Given the description of an element on the screen output the (x, y) to click on. 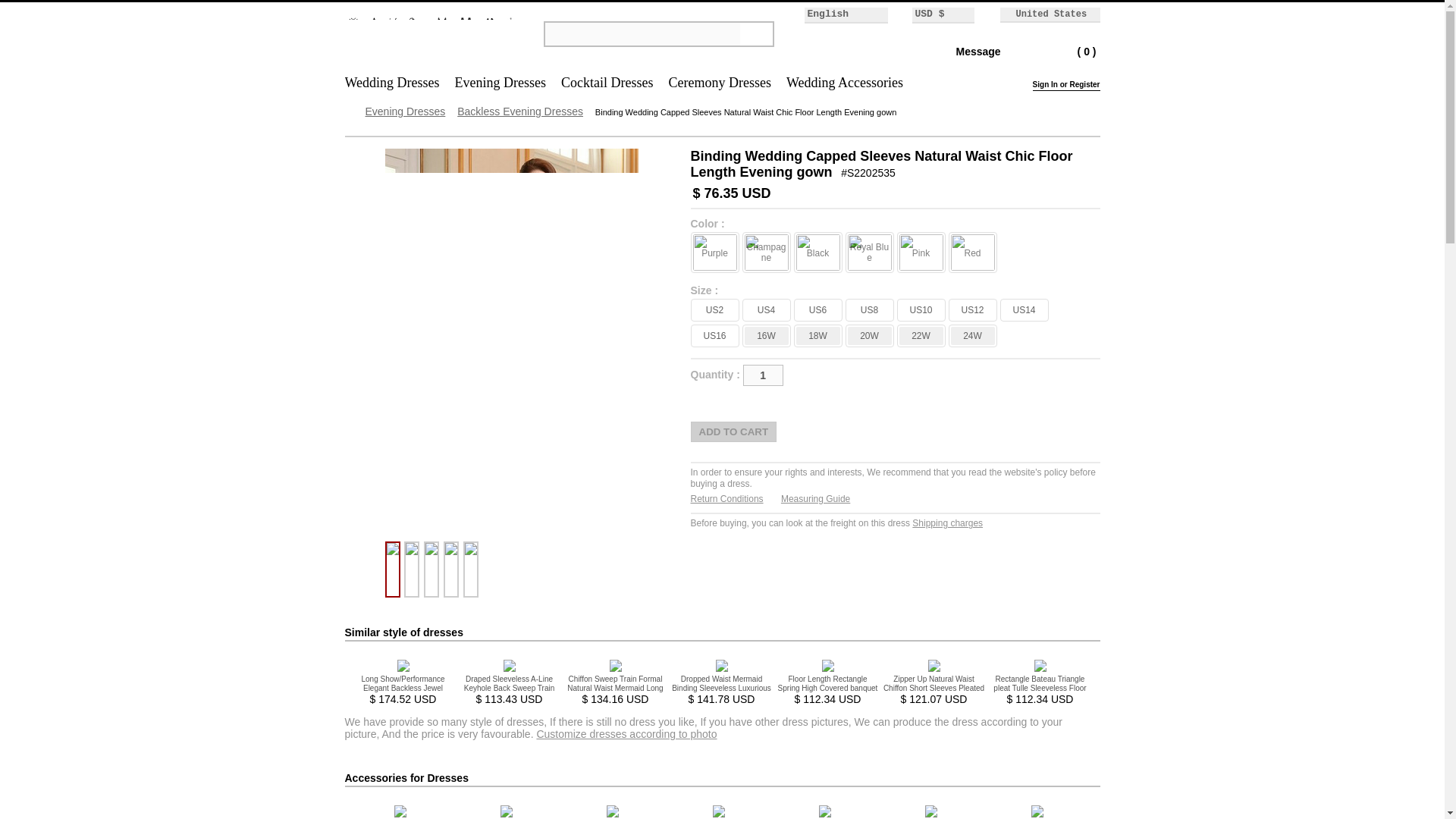
ADD TO CART (733, 431)
1 (762, 374)
United States (1044, 13)
sumidress.com (430, 66)
